Given the description of an element on the screen output the (x, y) to click on. 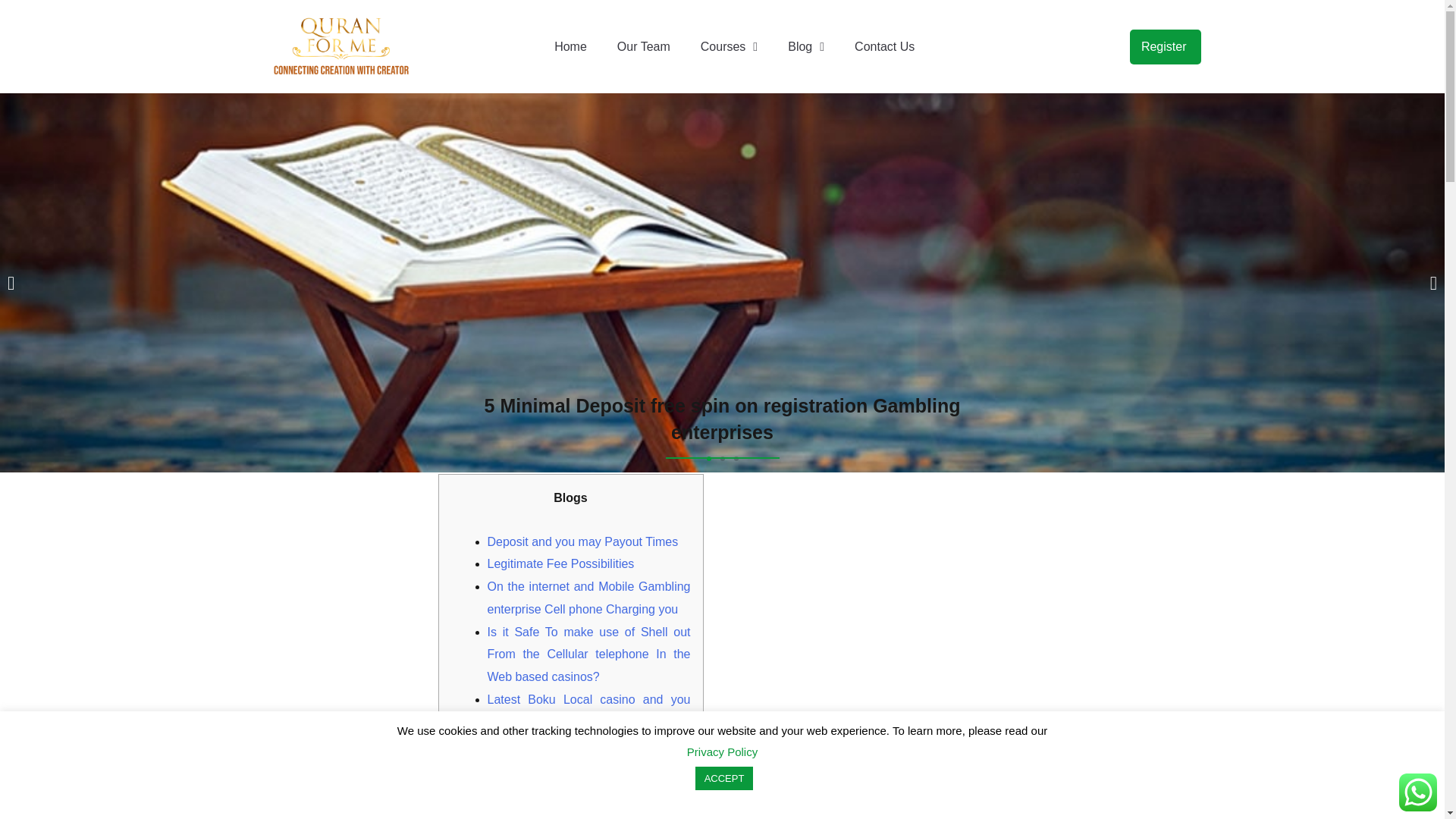
Register (1165, 46)
WhatsApp us (1418, 792)
Contact Us (884, 46)
Our Team (643, 46)
Courses (728, 46)
Blog (805, 46)
Home (570, 46)
